Given the description of an element on the screen output the (x, y) to click on. 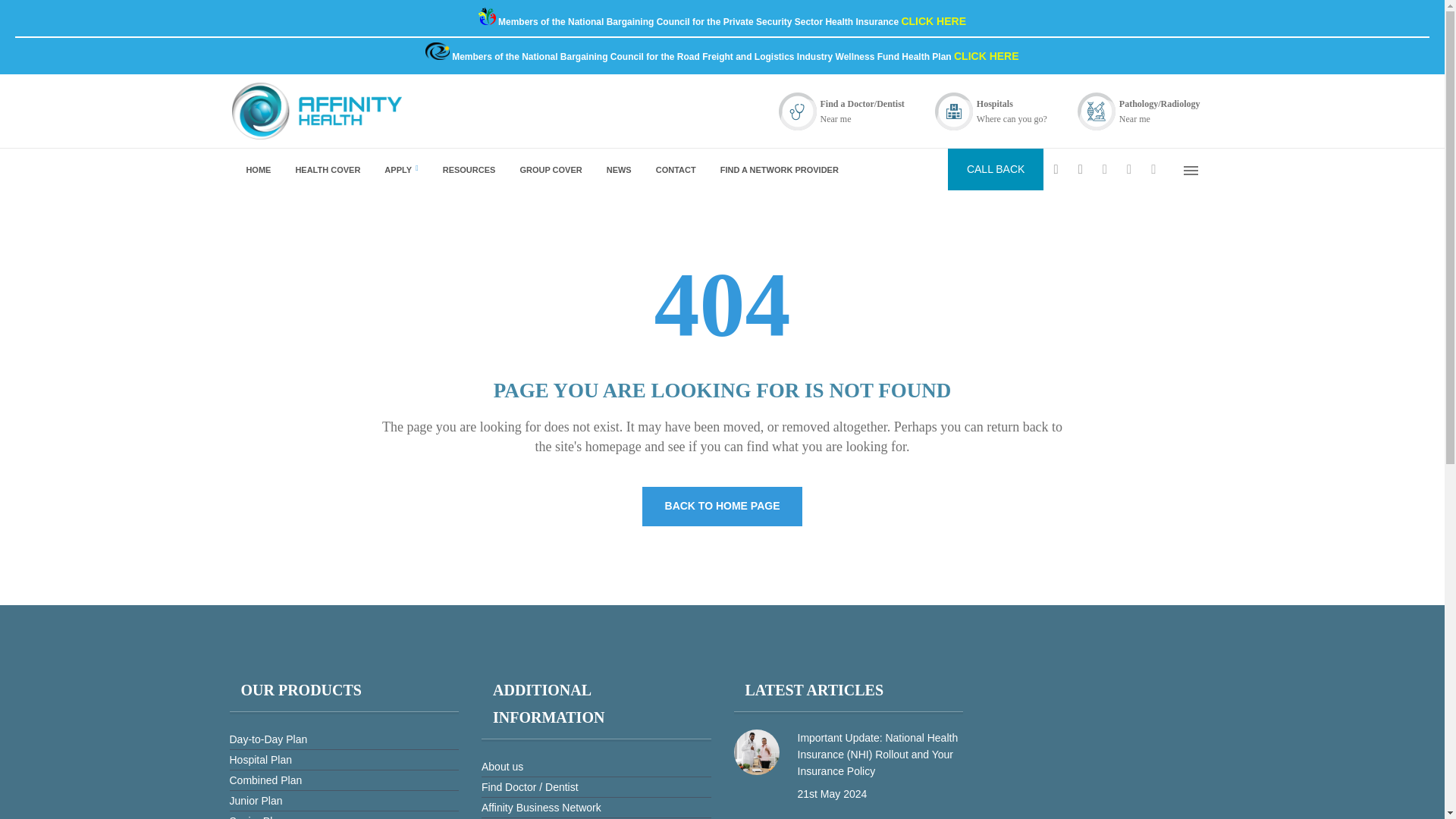
NEWS (617, 169)
CLICK HERE (933, 21)
HEALTH COVER (326, 169)
HOME (256, 169)
CONTACT (674, 169)
FIND A NETWORK PROVIDER (777, 169)
RESOURCES (467, 169)
CLICK HERE (986, 55)
GROUP COVER (548, 169)
APPLY (399, 169)
